Given the description of an element on the screen output the (x, y) to click on. 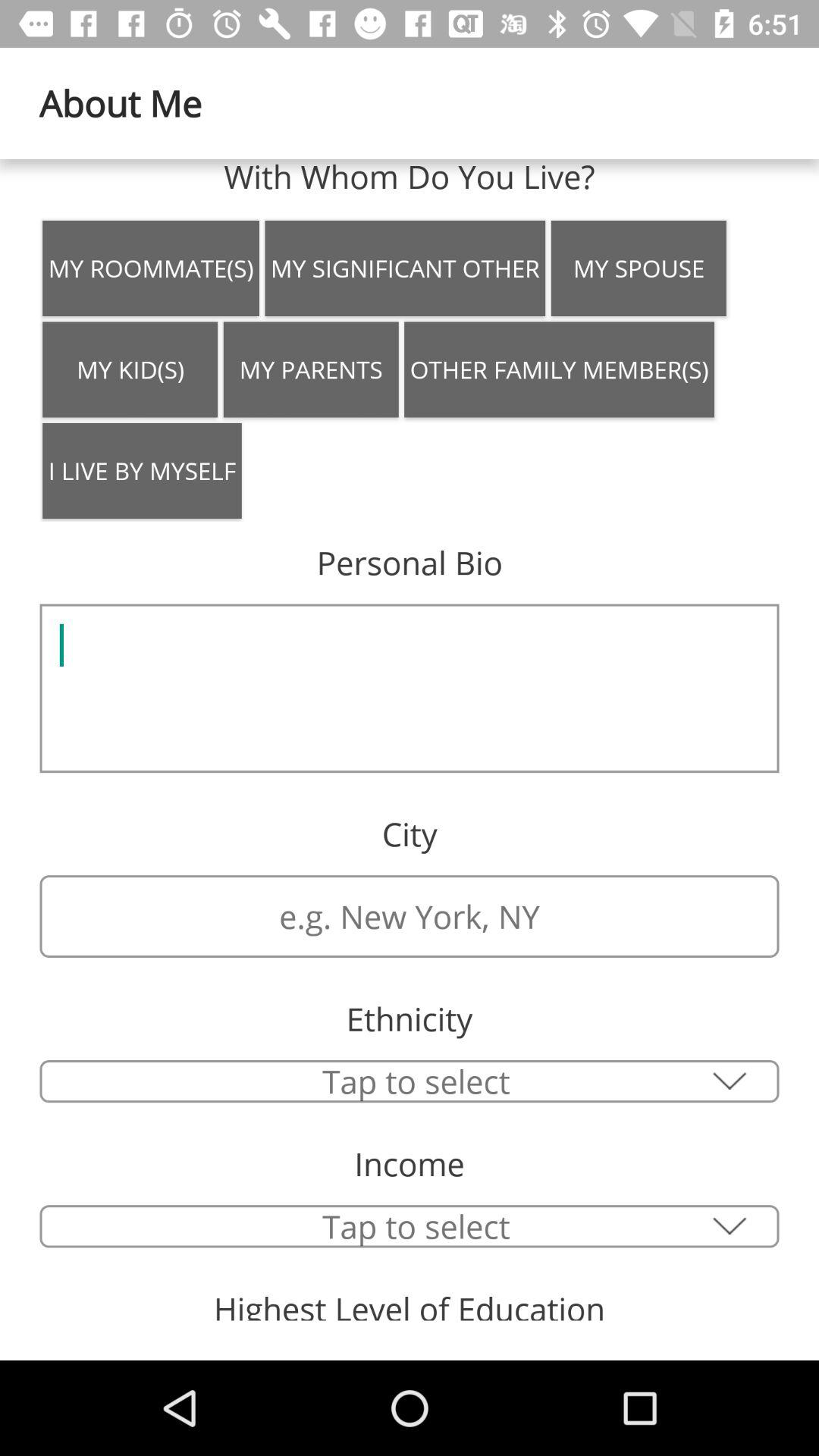
tap to select option (409, 1081)
